Given the description of an element on the screen output the (x, y) to click on. 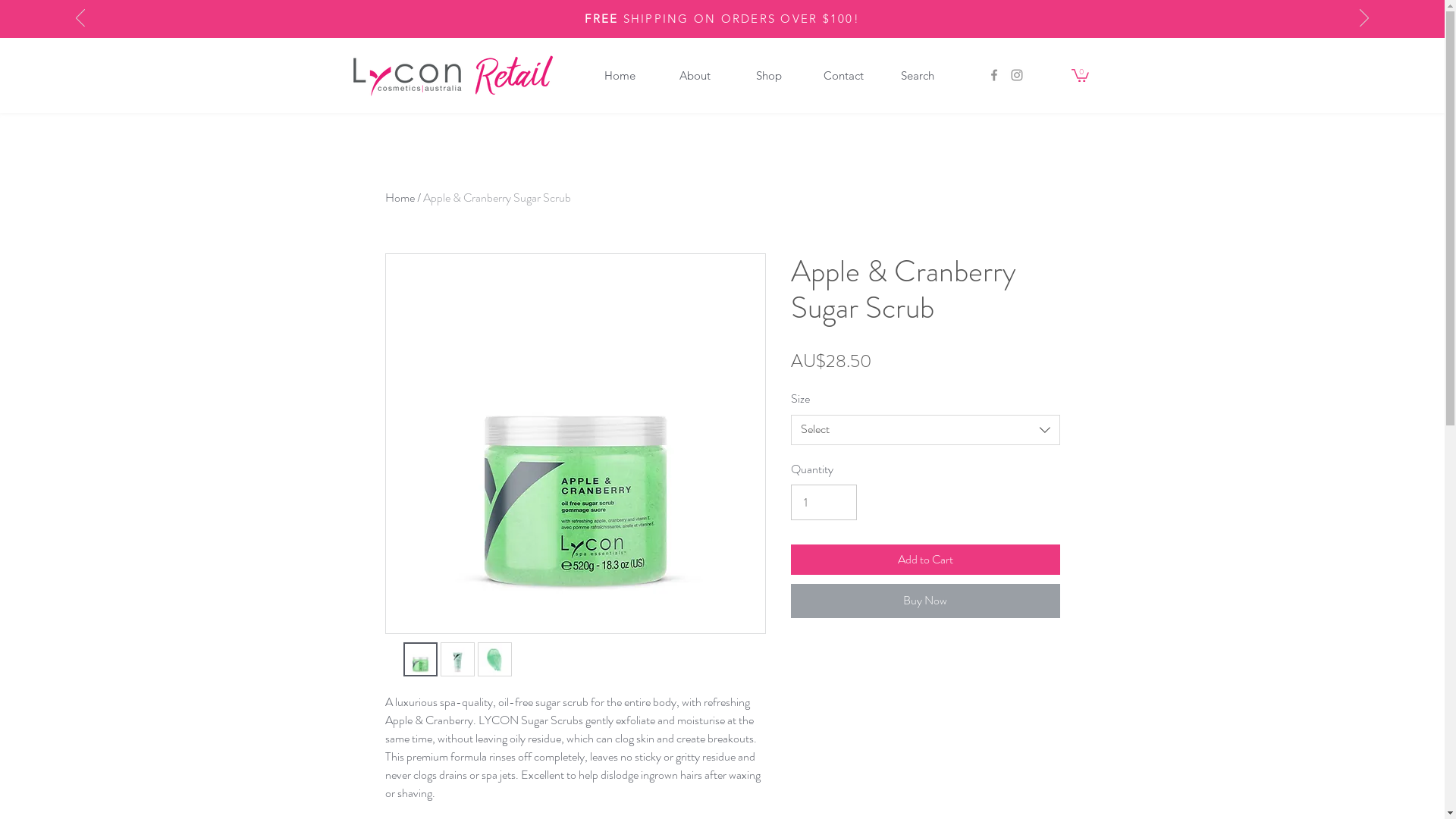
Select Element type: text (924, 429)
Home Element type: text (619, 75)
Apple & Cranberry Sugar Scrub Element type: text (497, 197)
Contact Element type: text (842, 75)
Shop Element type: text (768, 75)
Buy Now Element type: text (924, 600)
Search Element type: text (916, 75)
0 Element type: text (1079, 74)
Home Element type: text (399, 197)
About Element type: text (693, 75)
Add to Cart Element type: text (924, 559)
